Given the description of an element on the screen output the (x, y) to click on. 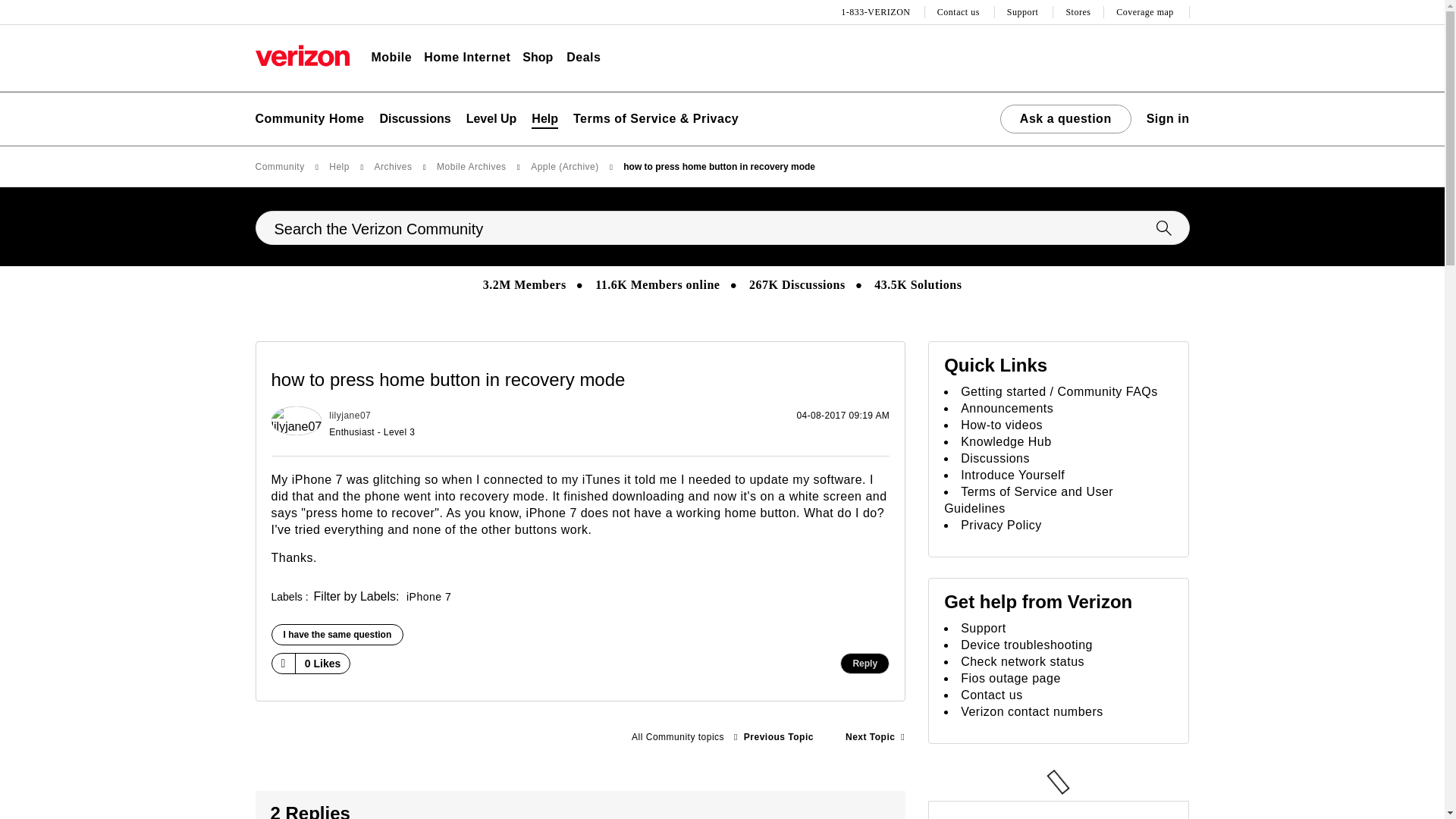
Stores (1078, 12)
Mobile (391, 57)
Search (721, 227)
How does my device use data? (874, 737)
Contact us (959, 12)
1-833-VERIZON (876, 12)
Click here if you had a similar experience (337, 634)
Shop (537, 57)
The total number of likes this post has received. (322, 663)
Coverage map (1146, 12)
lilyjane07 (295, 420)
Support (1024, 12)
Verizon Home Page (301, 55)
Click here to give likes to this post. (282, 662)
